Given the description of an element on the screen output the (x, y) to click on. 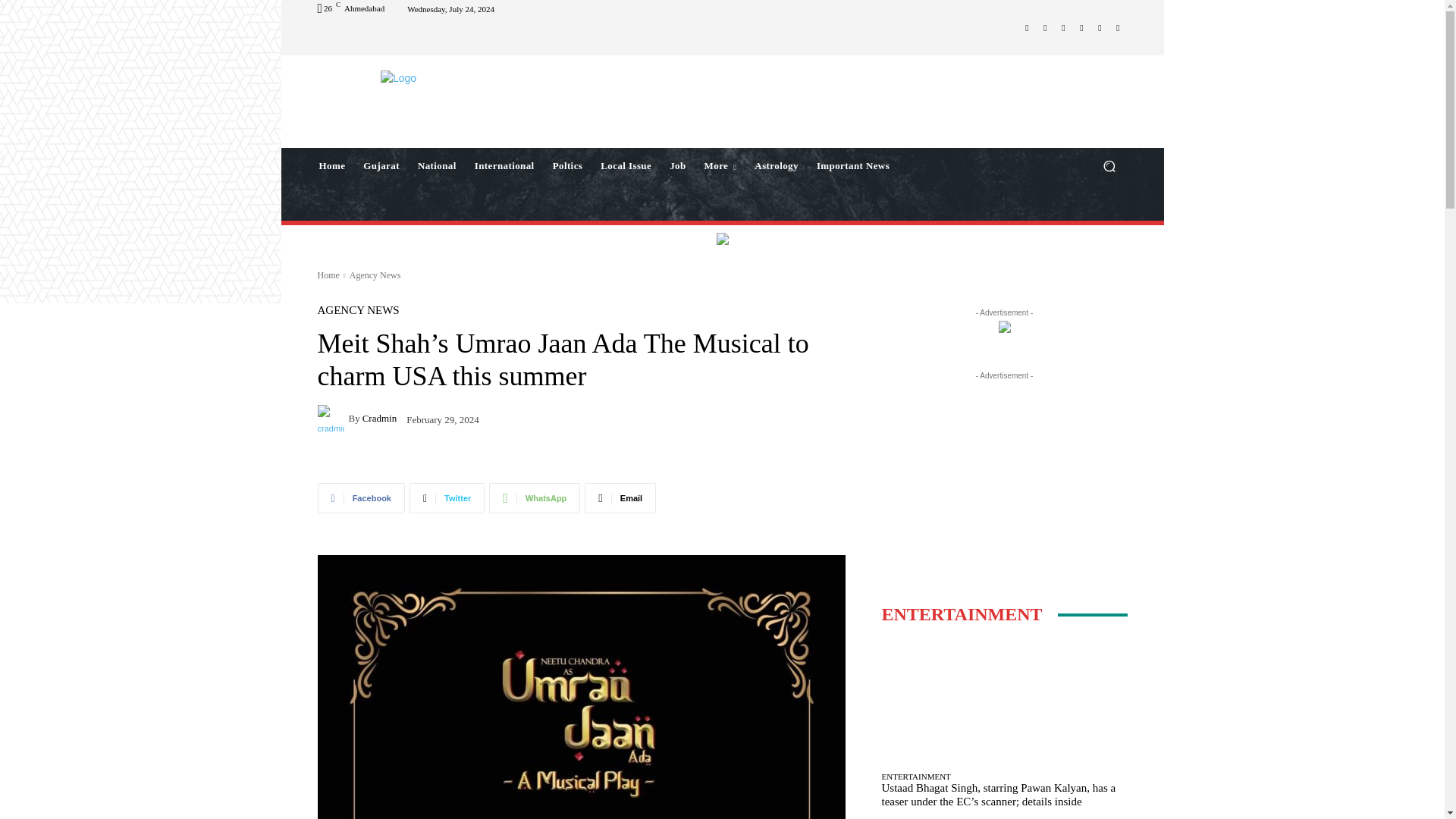
Mail (1062, 27)
Instagram (1044, 27)
Facebook (1026, 27)
WhatsApp (1099, 27)
Twitter (1080, 27)
Youtube (1117, 27)
